Given the description of an element on the screen output the (x, y) to click on. 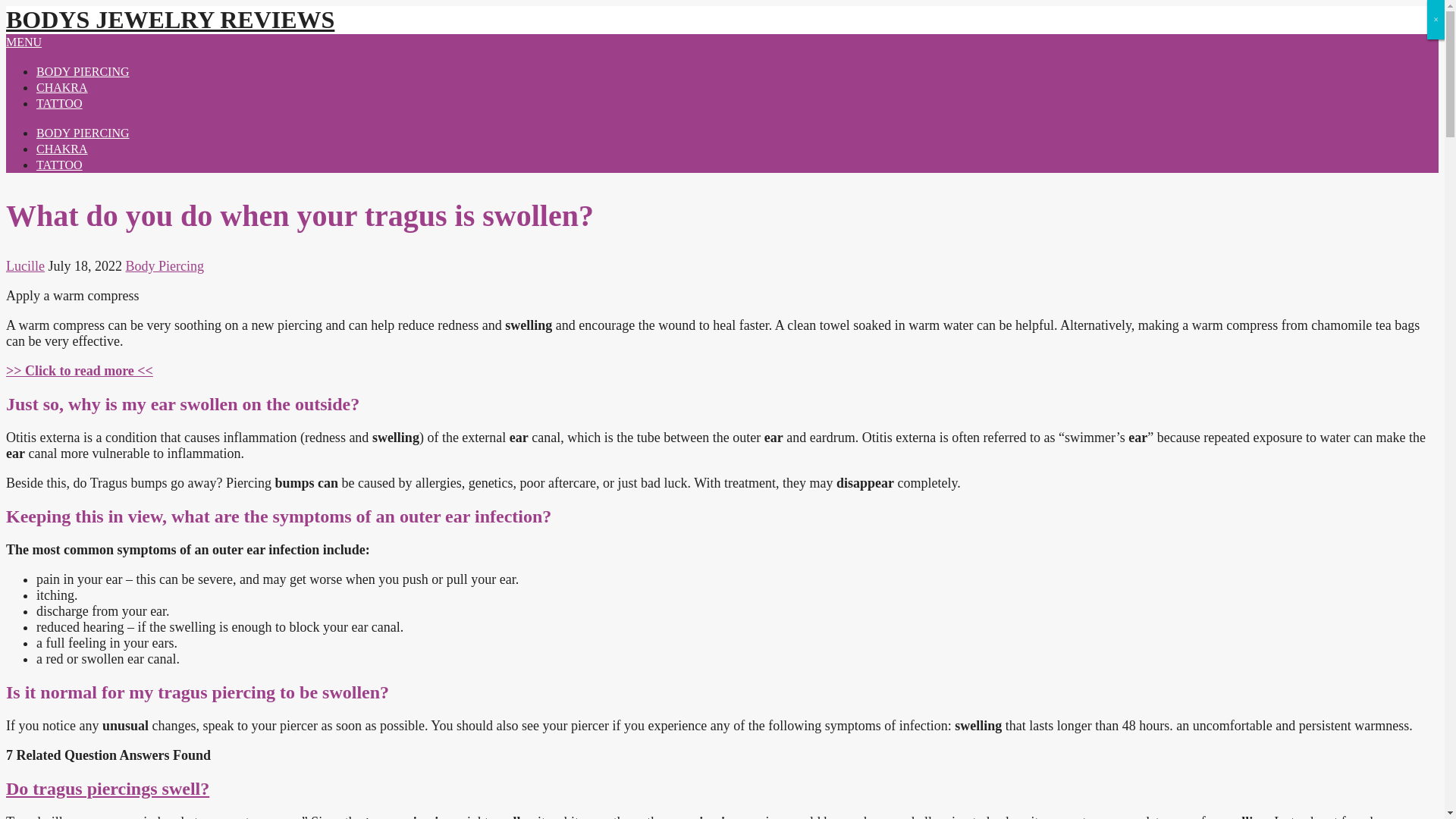
MENU (23, 42)
Lucille (25, 265)
BODY PIERCING (82, 132)
What do you do when your tragus is swollen? (78, 370)
Do tragus piercings swell? (107, 788)
View all posts in Body Piercing (165, 265)
Posts by Lucille (25, 265)
CHAKRA (61, 148)
TATTOO (59, 103)
Do tragus piercings swell? (107, 788)
BODY PIERCING (82, 71)
BODYS JEWELRY REVIEWS (169, 19)
TATTOO (59, 164)
Body Piercing (165, 265)
CHAKRA (61, 87)
